Given the description of an element on the screen output the (x, y) to click on. 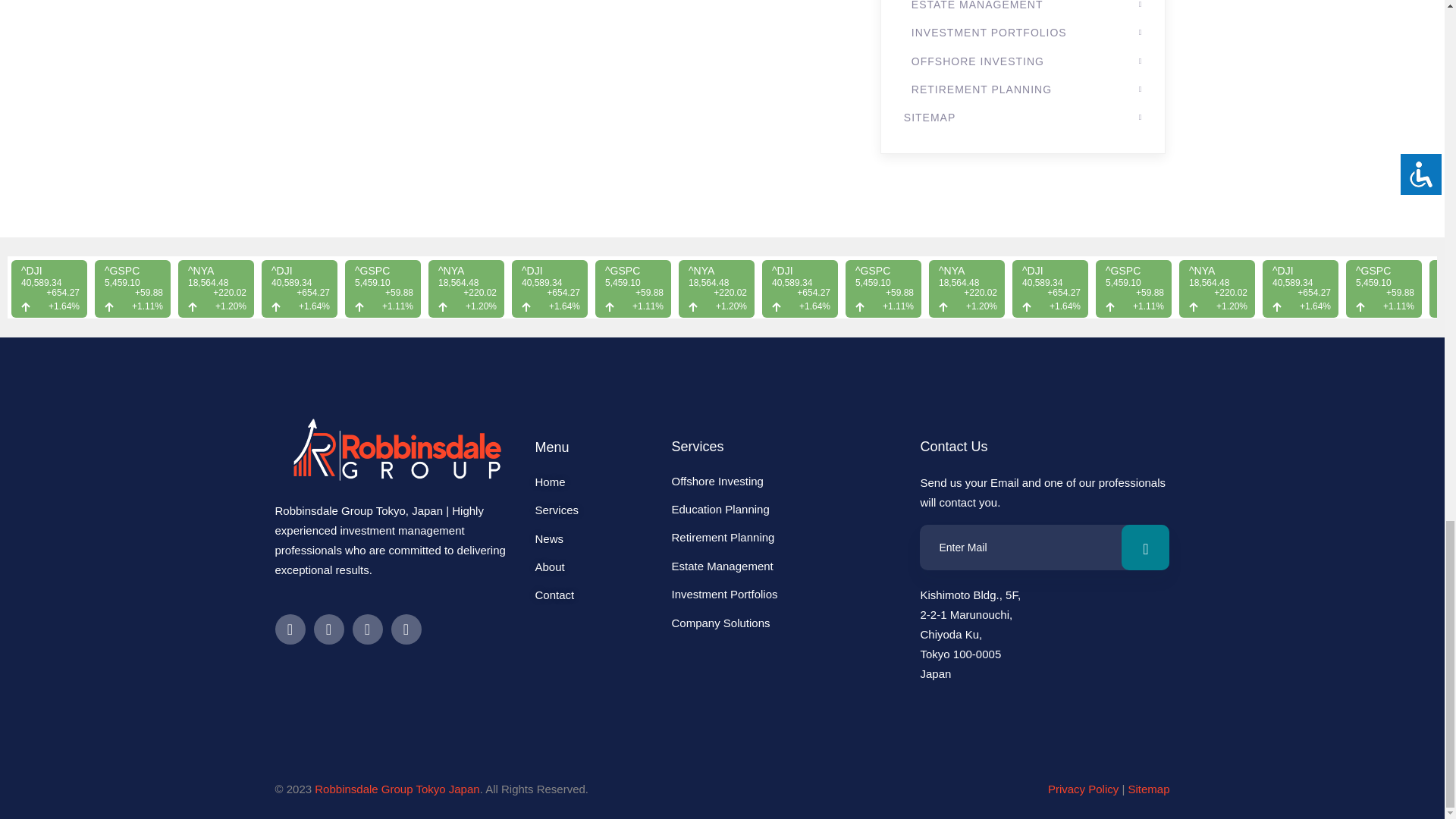
RETIREMENT PLANNING (1026, 58)
OFFSHORE INVESTING (1026, 30)
INVESTMENT PORTFOLIOS (1026, 5)
SITEMAP (1023, 86)
